Given the description of an element on the screen output the (x, y) to click on. 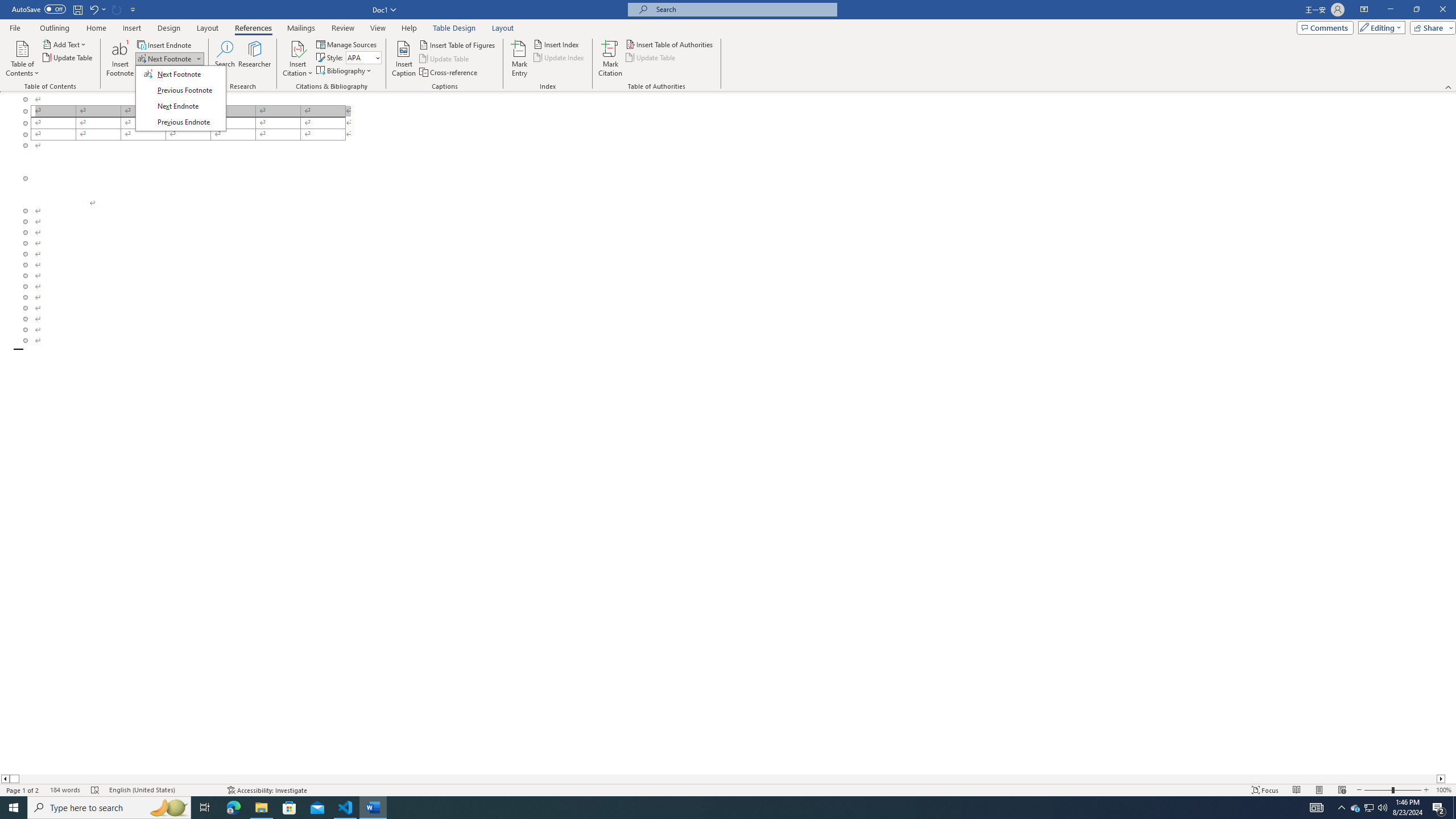
Editing (1379, 27)
AutomationID: 4105 (1316, 807)
Insert Table of Authorities... (670, 44)
Visual Studio Code - 1 running window (345, 807)
Insert Endnote (165, 44)
User Promoted Notification Area (1368, 807)
Spelling and Grammar Check Errors (94, 790)
Mark Citation... (610, 58)
